Given the description of an element on the screen output the (x, y) to click on. 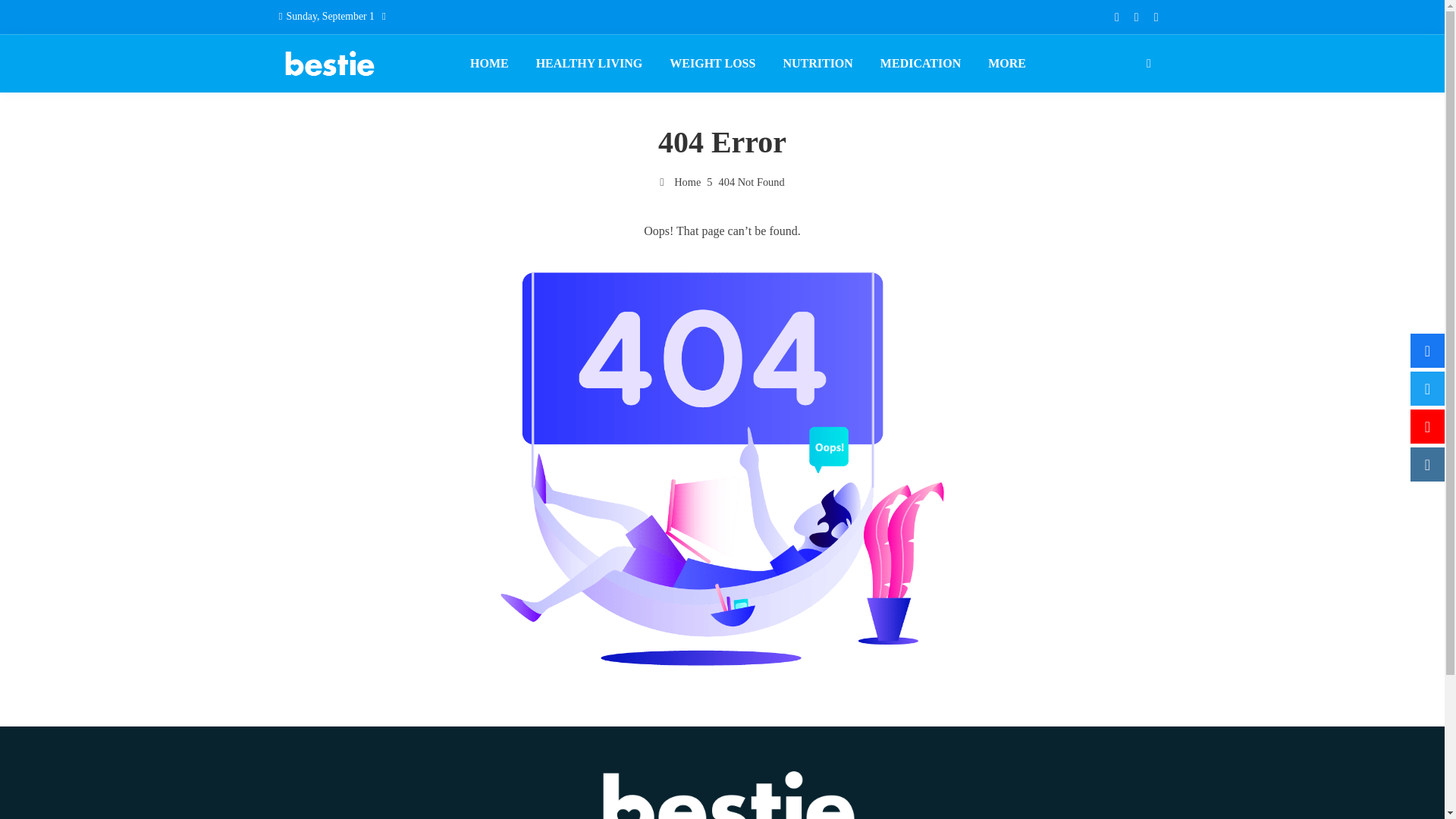
NUTRITION (817, 63)
WEIGHT LOSS (712, 63)
HEALTHY LIVING (588, 63)
Home (679, 182)
MORE (1006, 63)
HOME (488, 63)
MEDICATION (920, 63)
